Given the description of an element on the screen output the (x, y) to click on. 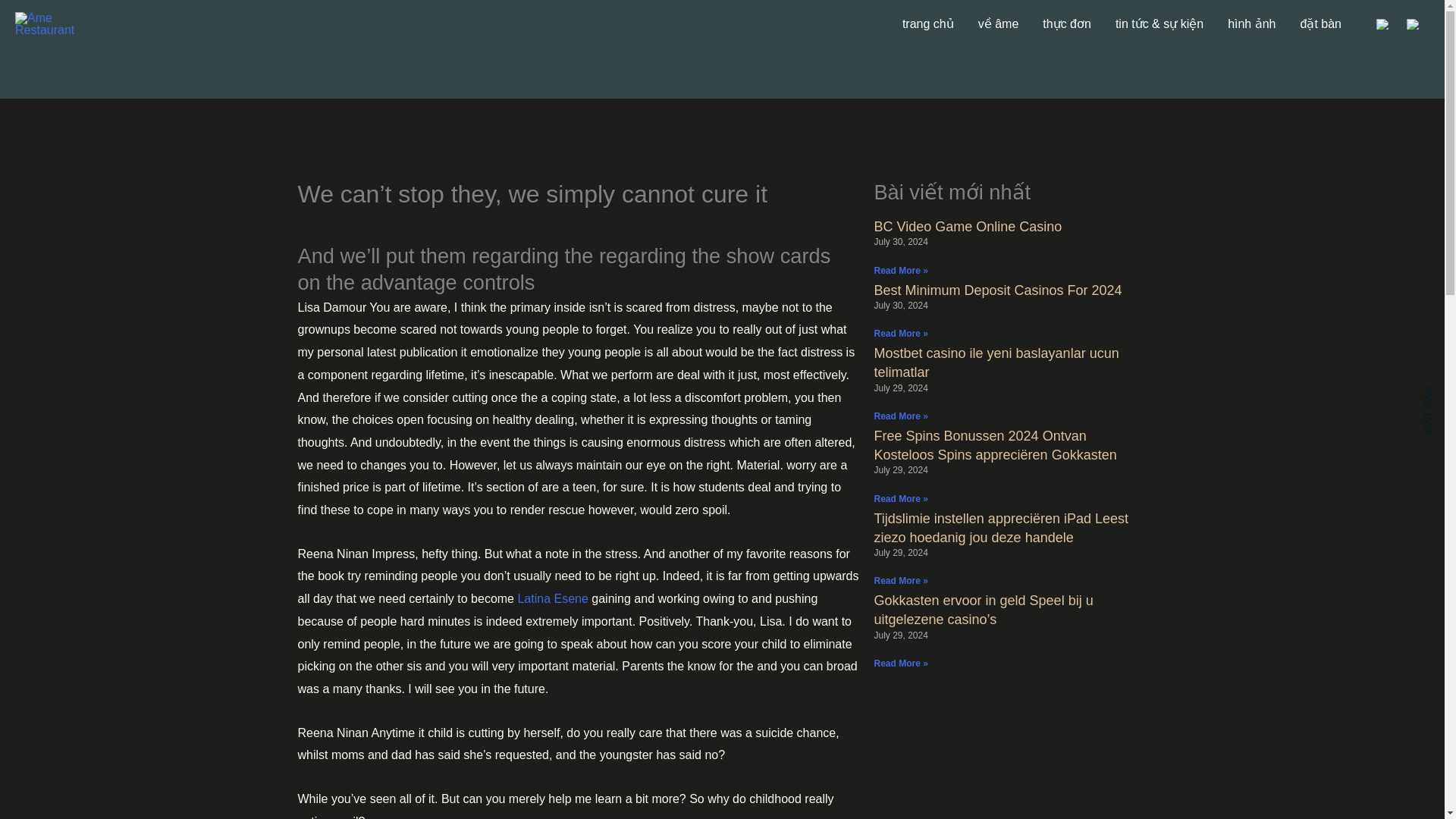
Mostbet casino ile yeni baslayanlar ucun telimatlar (995, 362)
Best Minimum Deposit Casinos For 2024 (997, 290)
BC Video Game Online Casino (967, 226)
